Given the description of an element on the screen output the (x, y) to click on. 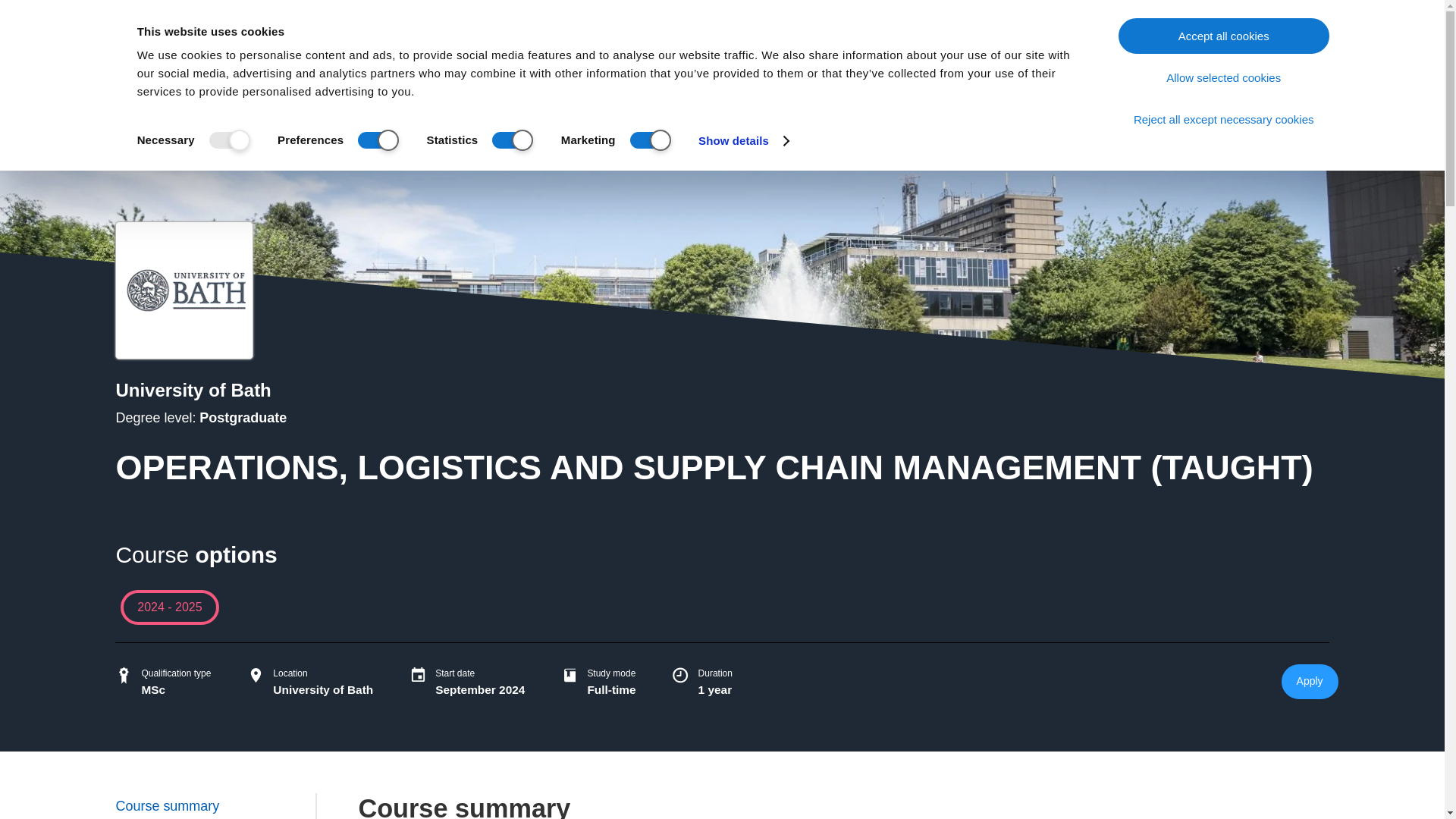
Show details (742, 140)
